Given the description of an element on the screen output the (x, y) to click on. 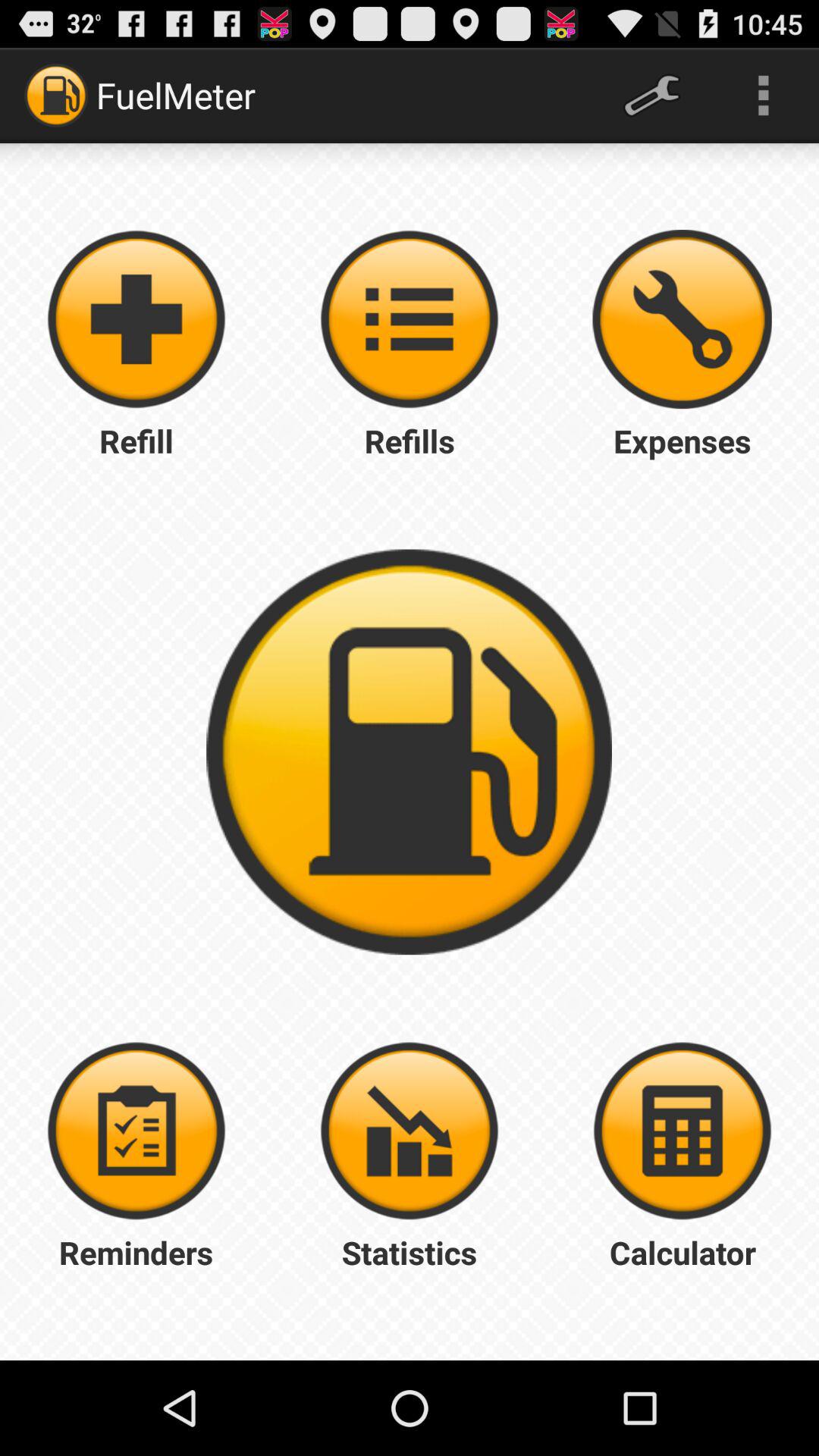
to use calculator (682, 1130)
